Given the description of an element on the screen output the (x, y) to click on. 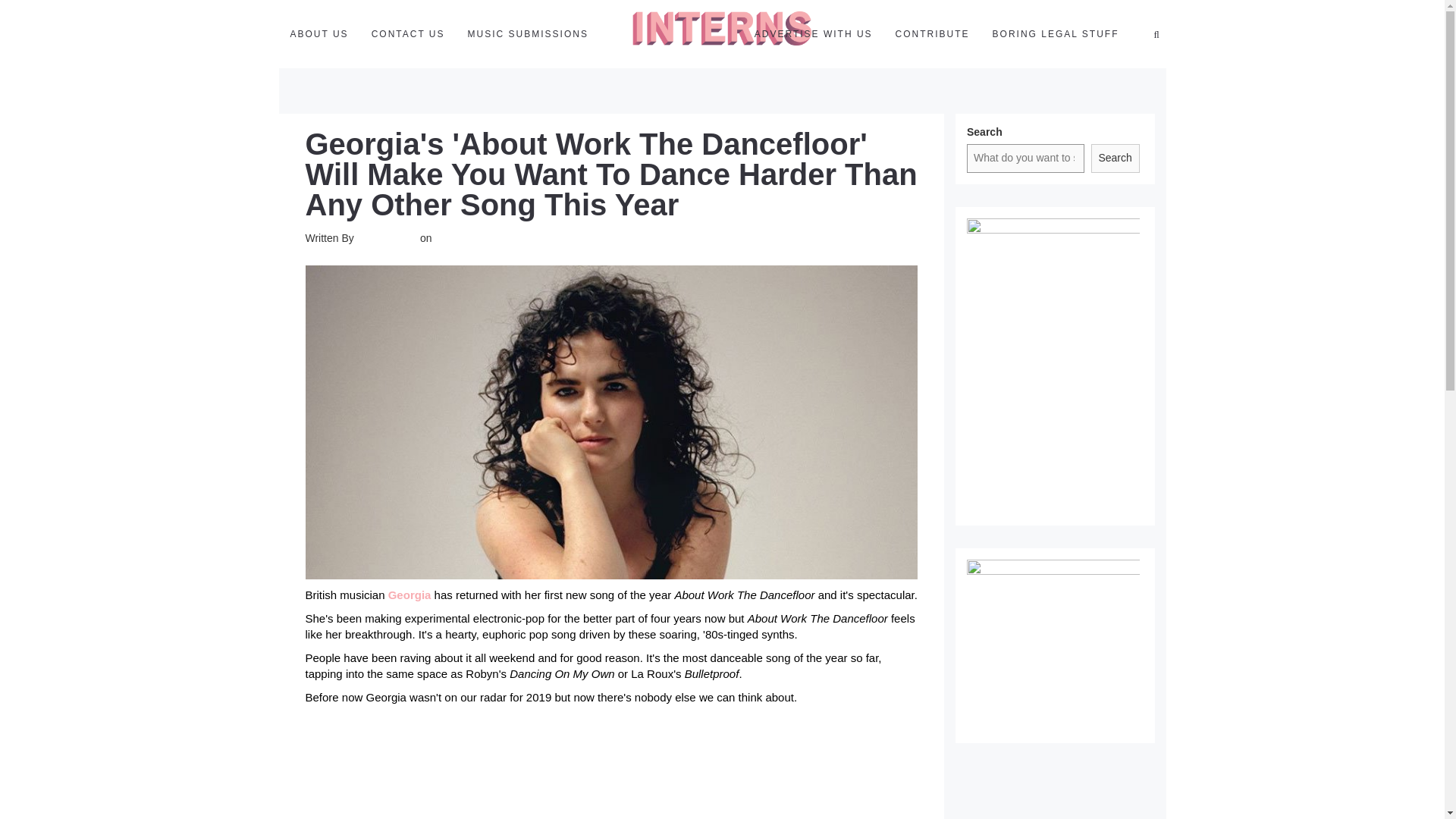
BORING LEGAL STUFF (1056, 33)
ADVERTISE WITH US (812, 33)
Sam Murphy (386, 237)
ABOUT US (319, 33)
CONTRIBUTE (932, 33)
CONTACT US (408, 33)
Georgia (409, 594)
Advertise With Us (812, 33)
MUSIC SUBMISSIONS (528, 33)
Search (1115, 158)
